Given the description of an element on the screen output the (x, y) to click on. 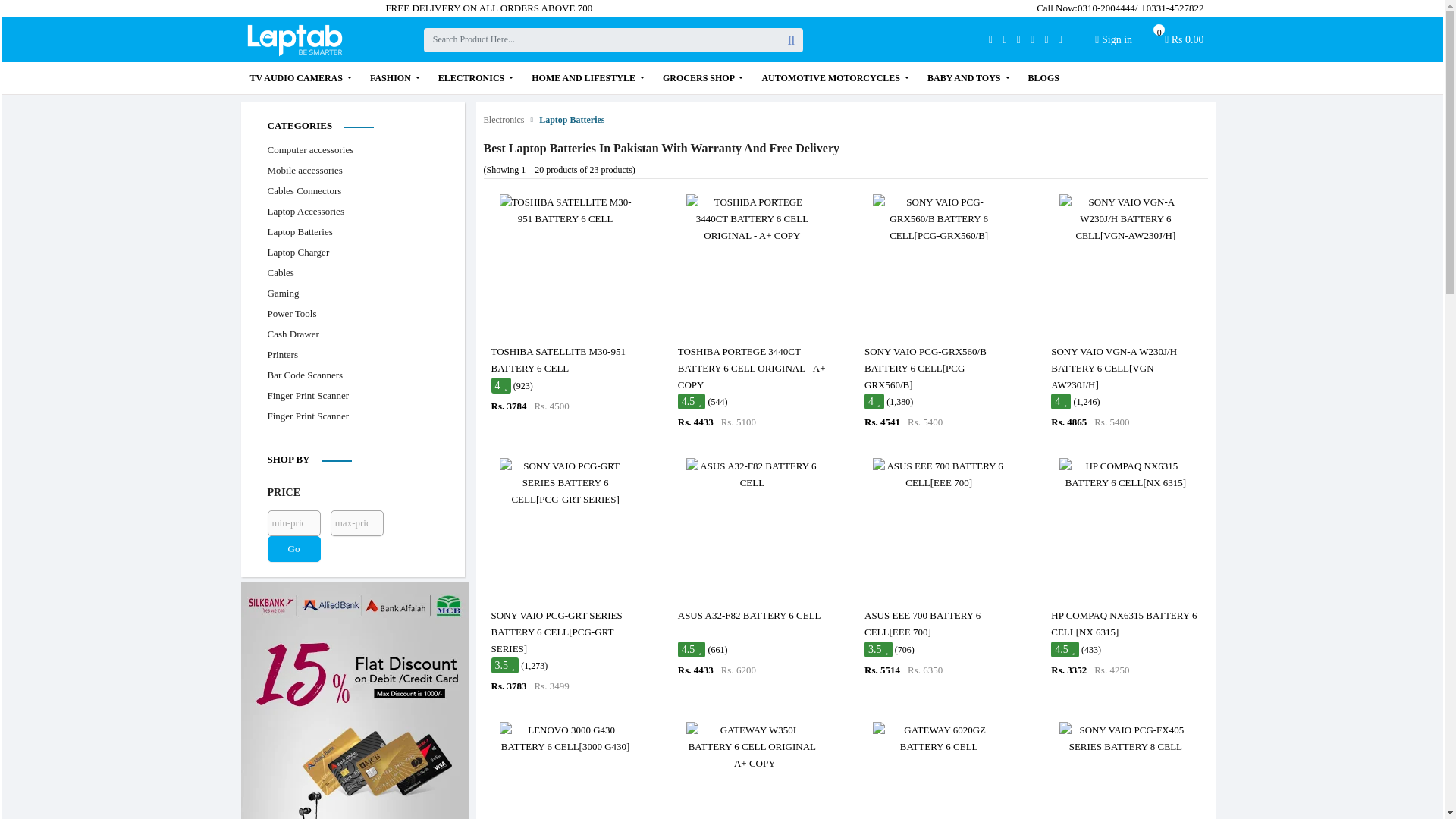
TV AUDIO CAMERAS (301, 78)
0310-2004444 (1106, 7)
Sign in (1113, 39)
GATEWAY 6020GZ BATTERY 6 CELL (938, 738)
SONY VAIO PCG-FX405 SERIES BATTERY 8 CELL (1184, 42)
  ASUS A32-F82 BATTERY 6 CELL    (1125, 738)
Go (751, 474)
TOSHIBA SATELLITE M30-951 BATTERY 6 CELL (293, 548)
0331-4527822 (565, 210)
FASHION (1170, 7)
